Given the description of an element on the screen output the (x, y) to click on. 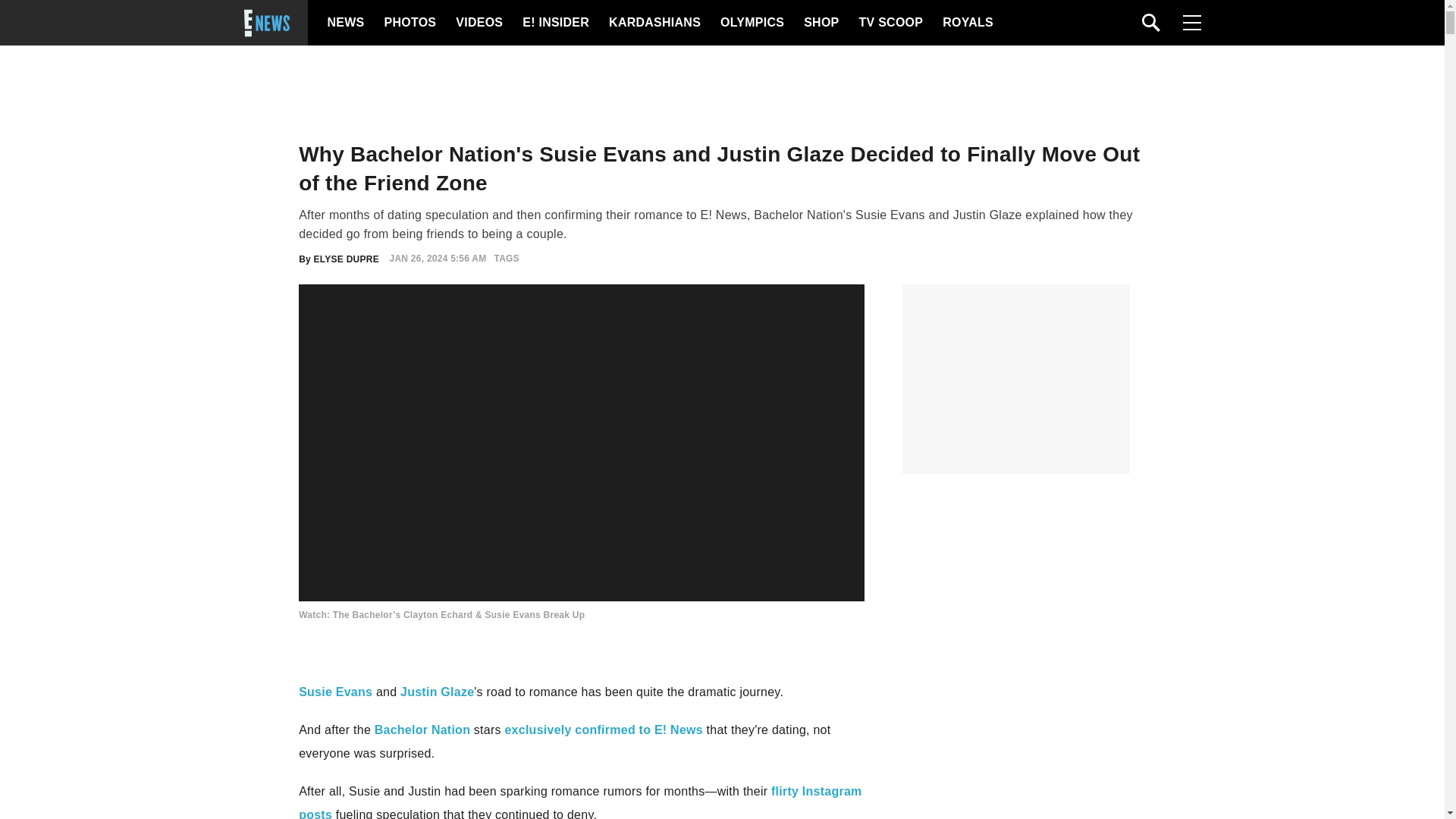
TV SCOOP (890, 22)
ROYALS (966, 22)
exclusively confirmed to E! News (602, 729)
flirty Instagram posts (579, 801)
VIDEOS (478, 22)
Bachelor Nation (422, 729)
NEWS (345, 22)
PHOTOS (408, 22)
SHOP (820, 22)
ELYSE DUPRE (346, 258)
Justin Glaze (437, 691)
Susie Evans (335, 691)
OLYMPICS (751, 22)
KARDASHIANS (653, 22)
E! INSIDER (555, 22)
